Given the description of an element on the screen output the (x, y) to click on. 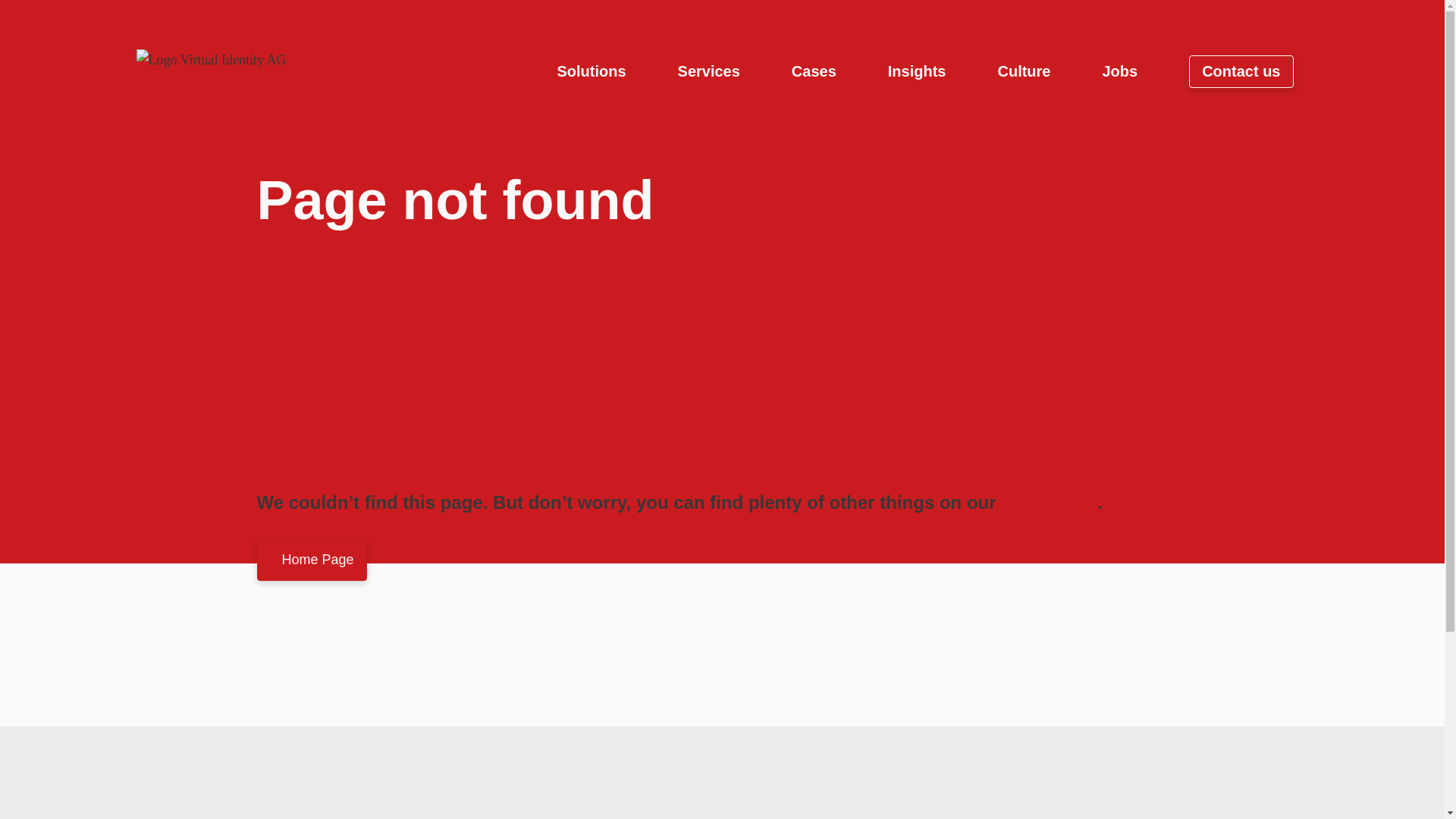
home page (1049, 502)
Home Page (311, 559)
Culture (1023, 70)
Insights (917, 70)
Jobs (1119, 70)
Contact us (1240, 70)
Services (708, 70)
Cases (813, 70)
Solutions (591, 70)
